Given the description of an element on the screen output the (x, y) to click on. 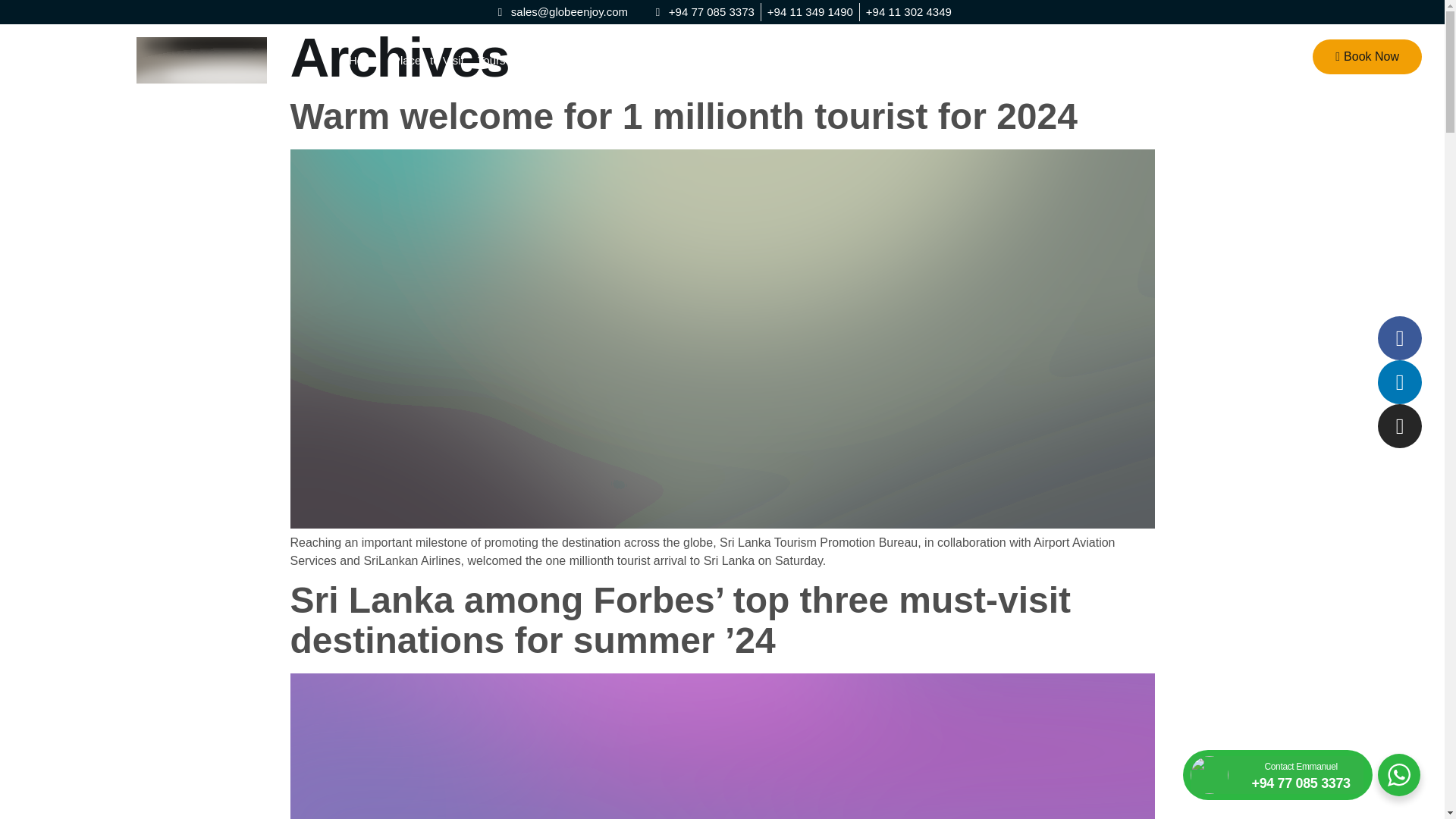
Hotels in Sri Lanka (856, 59)
About Us (998, 59)
Contact Us (1062, 59)
Home (363, 59)
Taylor Made Package (739, 59)
Tours (491, 59)
Places to Visit (428, 59)
Services (938, 59)
